Given the description of an element on the screen output the (x, y) to click on. 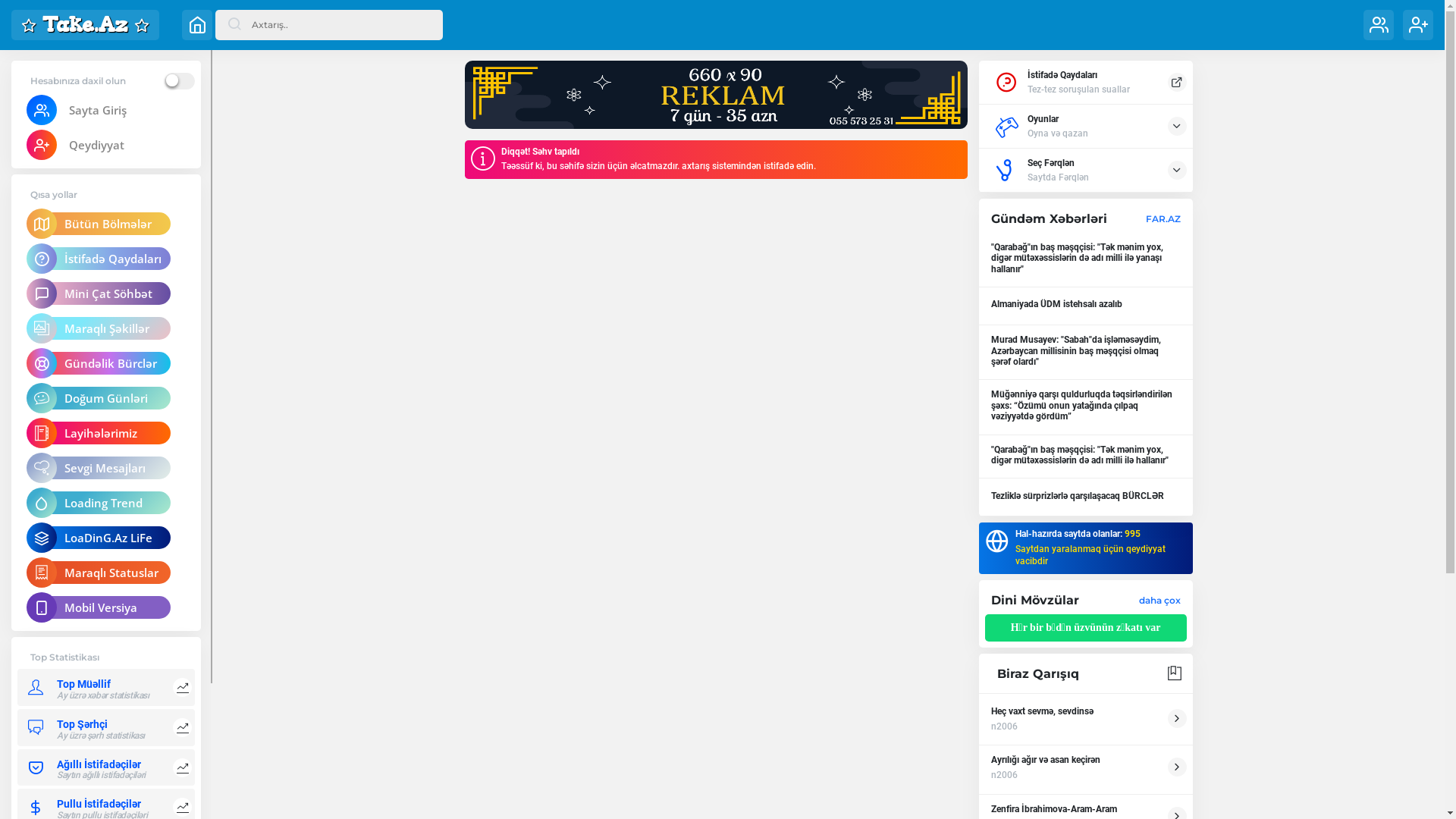
FAR.AZ Element type: text (1162, 218)
Loading Trend Element type: text (106, 502)
Take.Az Element type: text (85, 24)
Qeydiyyat Element type: text (106, 144)
reklam Element type: hover (715, 94)
LoaDinG.Az LiFe Element type: text (106, 537)
Mobil Versiya Element type: text (106, 607)
